Given the description of an element on the screen output the (x, y) to click on. 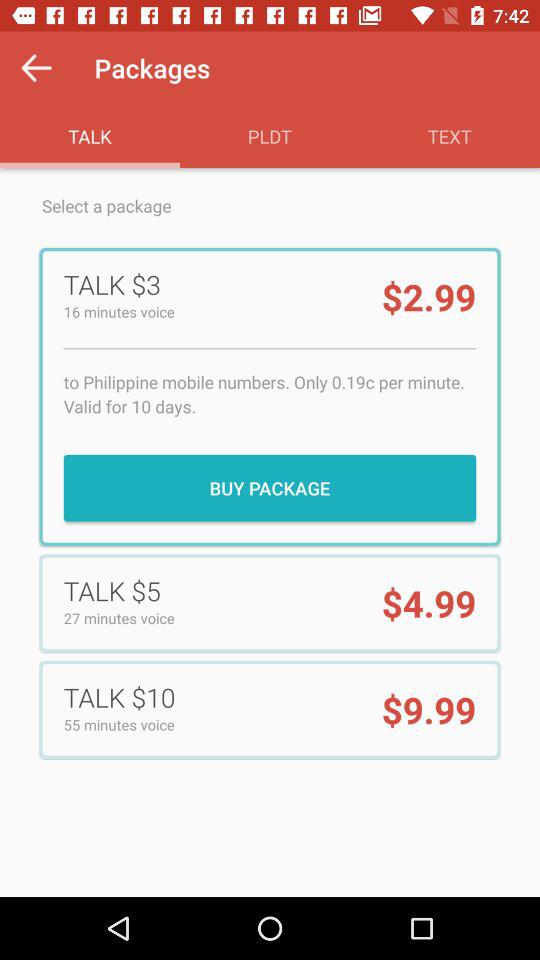
select the icon to the left of packages icon (36, 68)
